Given the description of an element on the screen output the (x, y) to click on. 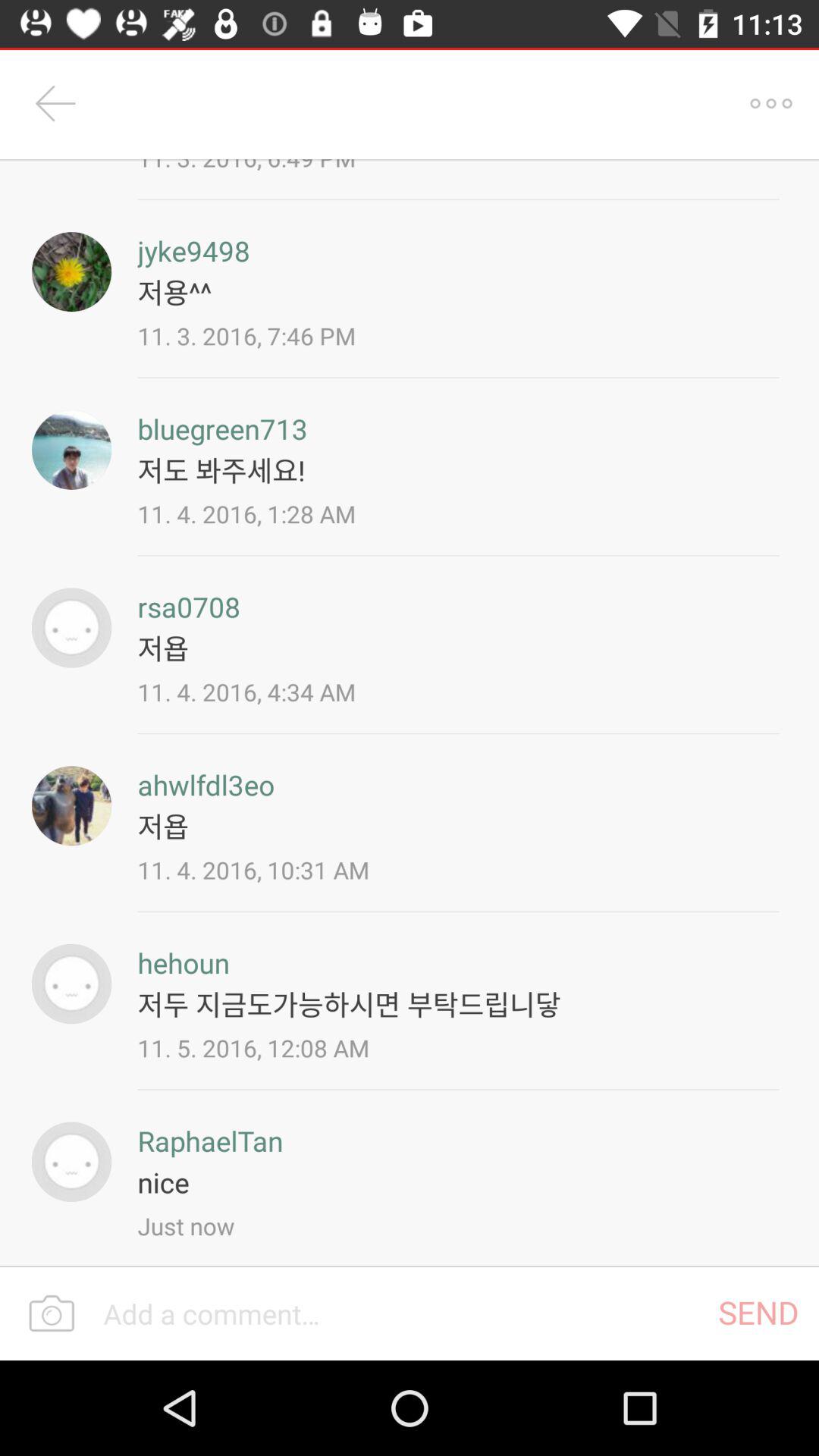
turn on item at the bottom right corner (758, 1311)
